Given the description of an element on the screen output the (x, y) to click on. 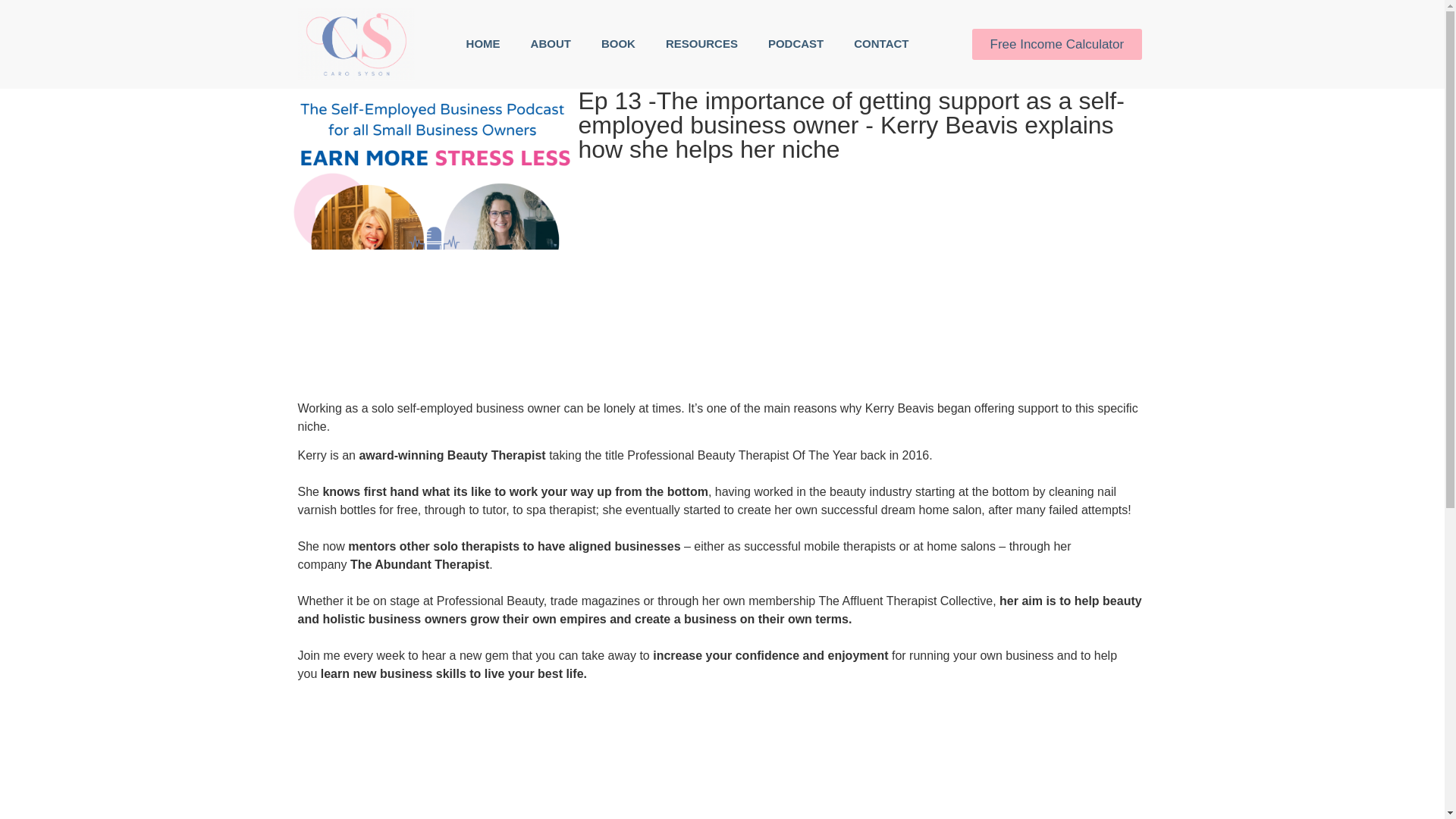
Audioboom player (722, 749)
BOOK (618, 43)
ABOUT (550, 43)
RESOURCES (701, 43)
Free Income Calculator (1057, 43)
HOME (483, 43)
PODCAST (795, 43)
CONTACT (880, 43)
